Given the description of an element on the screen output the (x, y) to click on. 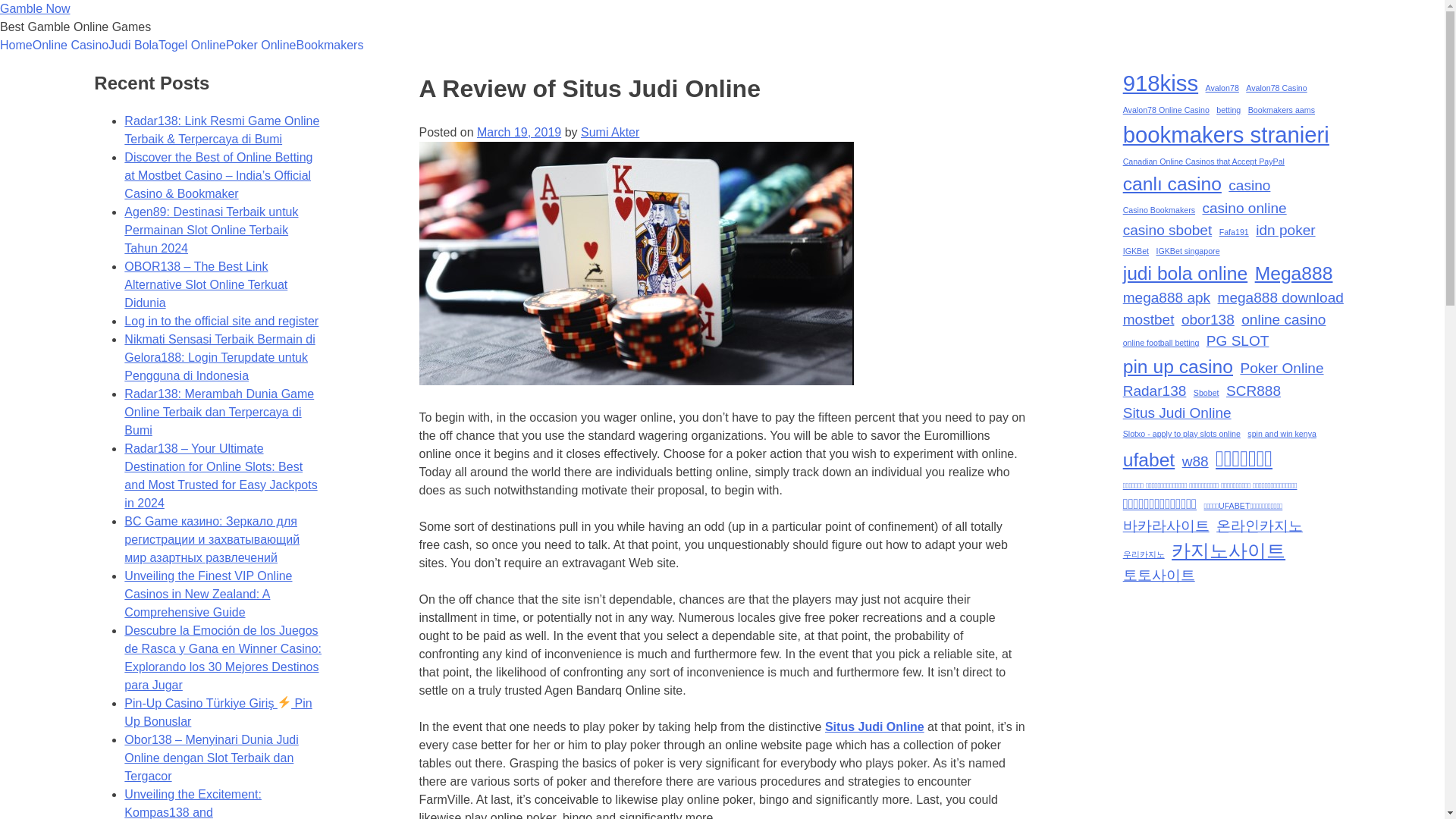
Sumi Akter (609, 132)
Poker Online (261, 45)
Bookmakers (328, 45)
Togel Online (191, 45)
Log in to the official site and register (220, 320)
March 19, 2019 (518, 132)
Judi Bola (132, 45)
Situs Judi Online (874, 726)
